Given the description of an element on the screen output the (x, y) to click on. 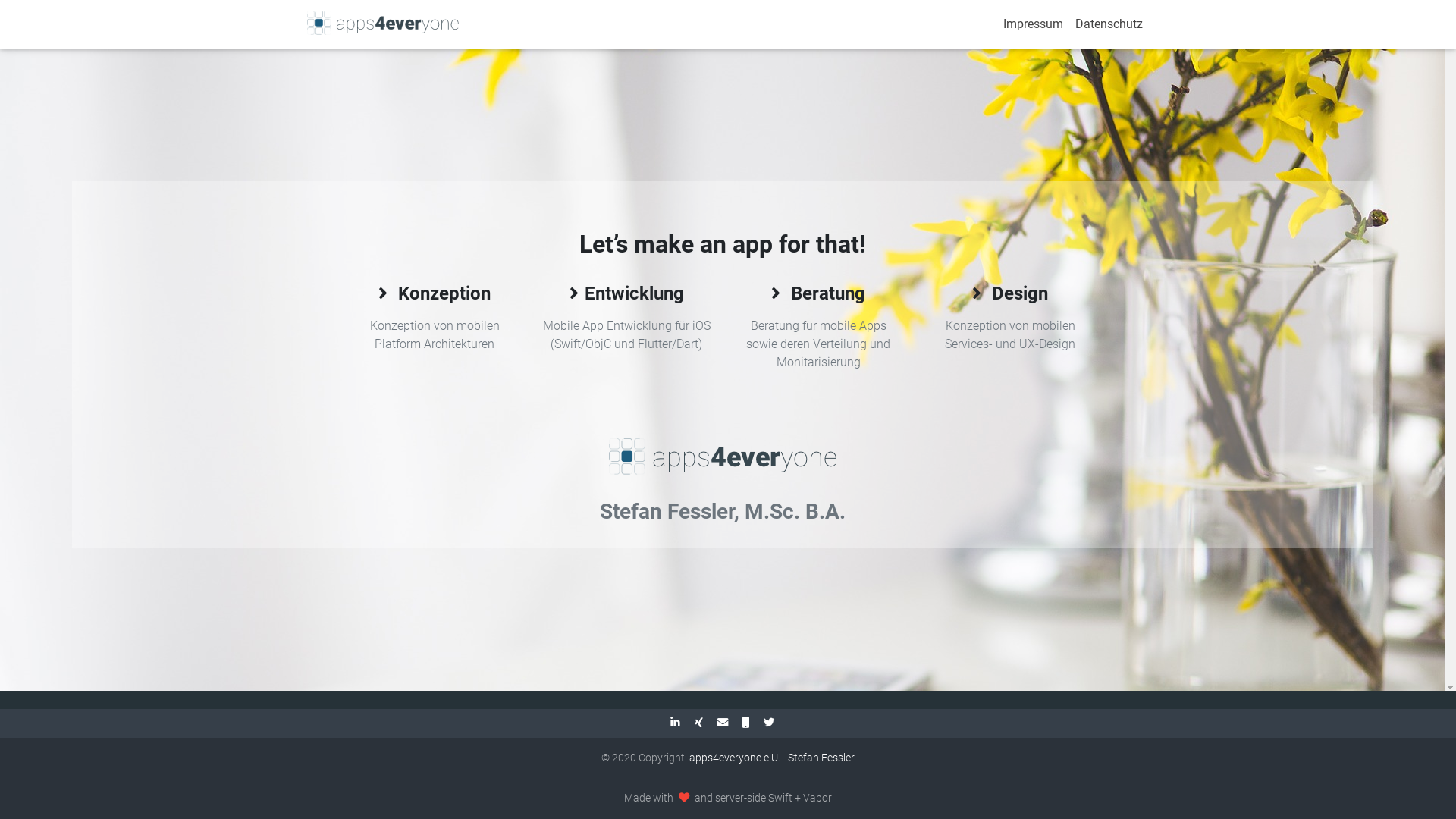
Datenschutz Element type: text (1108, 24)
apps4everyone e.U. - Stefan Fessler Element type: text (771, 757)
Impressum Element type: text (1033, 24)
